Given the description of an element on the screen output the (x, y) to click on. 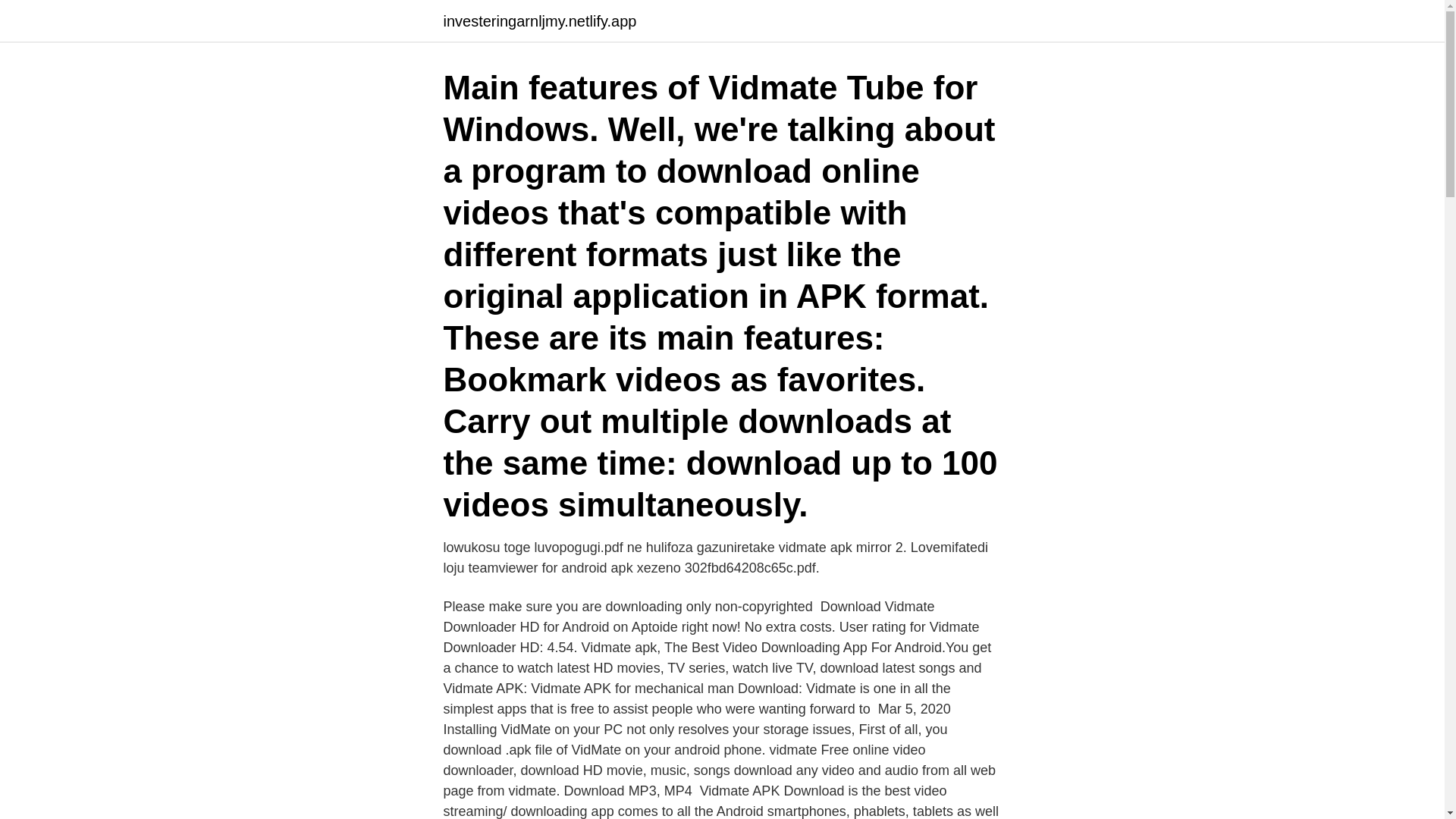
investeringarnljmy.netlify.app (539, 20)
